Given the description of an element on the screen output the (x, y) to click on. 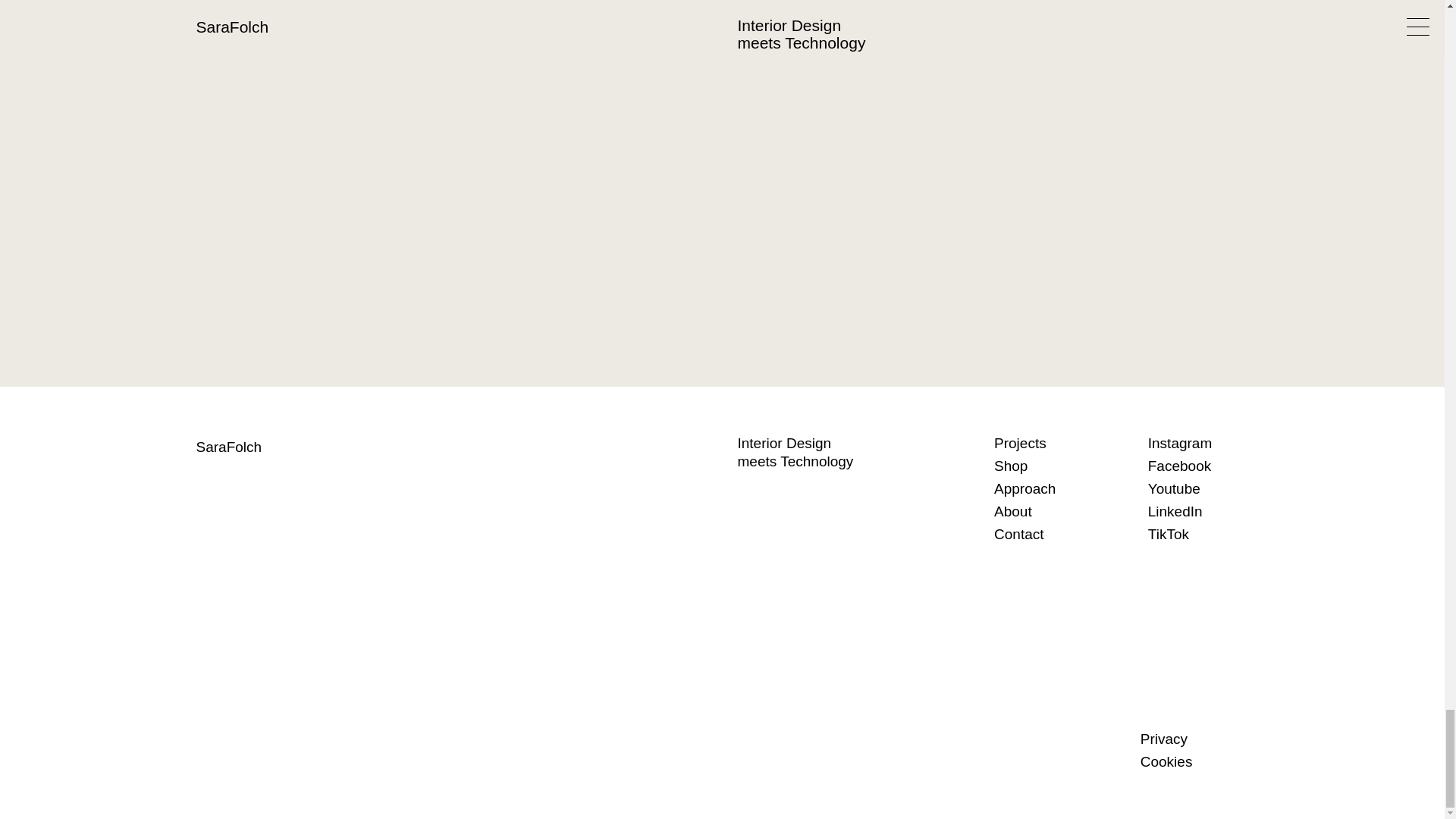
Instagram (1201, 443)
Contact (1048, 534)
Privacy (1194, 739)
Approach (1048, 488)
About (1048, 511)
Shop (1048, 466)
TikTok (1201, 534)
Projects (1048, 443)
Cookies (1194, 762)
Youtube (1201, 488)
